Given the description of an element on the screen output the (x, y) to click on. 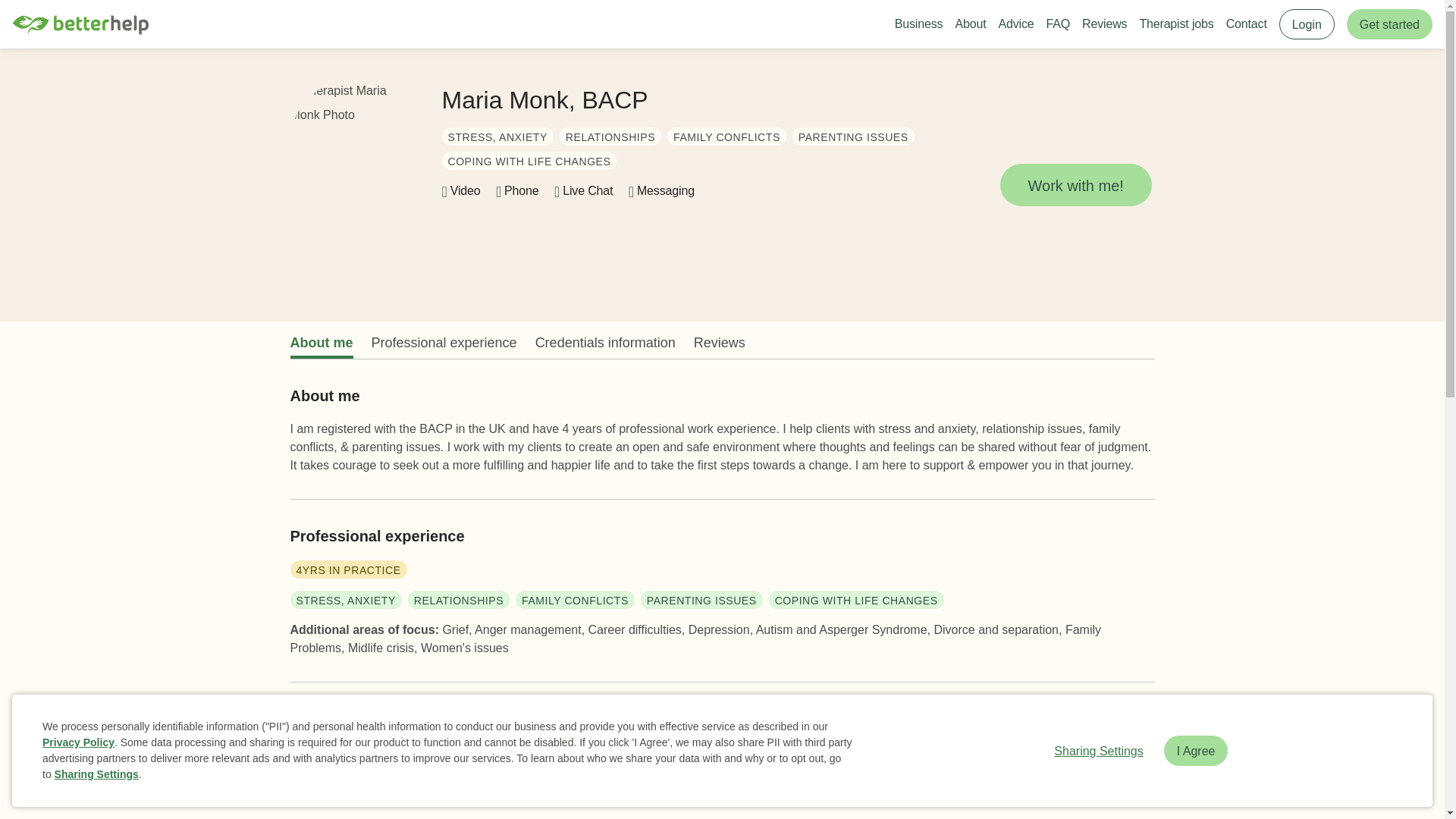
Work with me! (1074, 184)
Therapist jobs (1175, 24)
Login (1307, 24)
Business (919, 24)
Get started (1389, 24)
Credentials information (605, 342)
About me (320, 342)
I Agree (1195, 750)
Professional experience (443, 342)
Sharing Settings (96, 774)
